Given the description of an element on the screen output the (x, y) to click on. 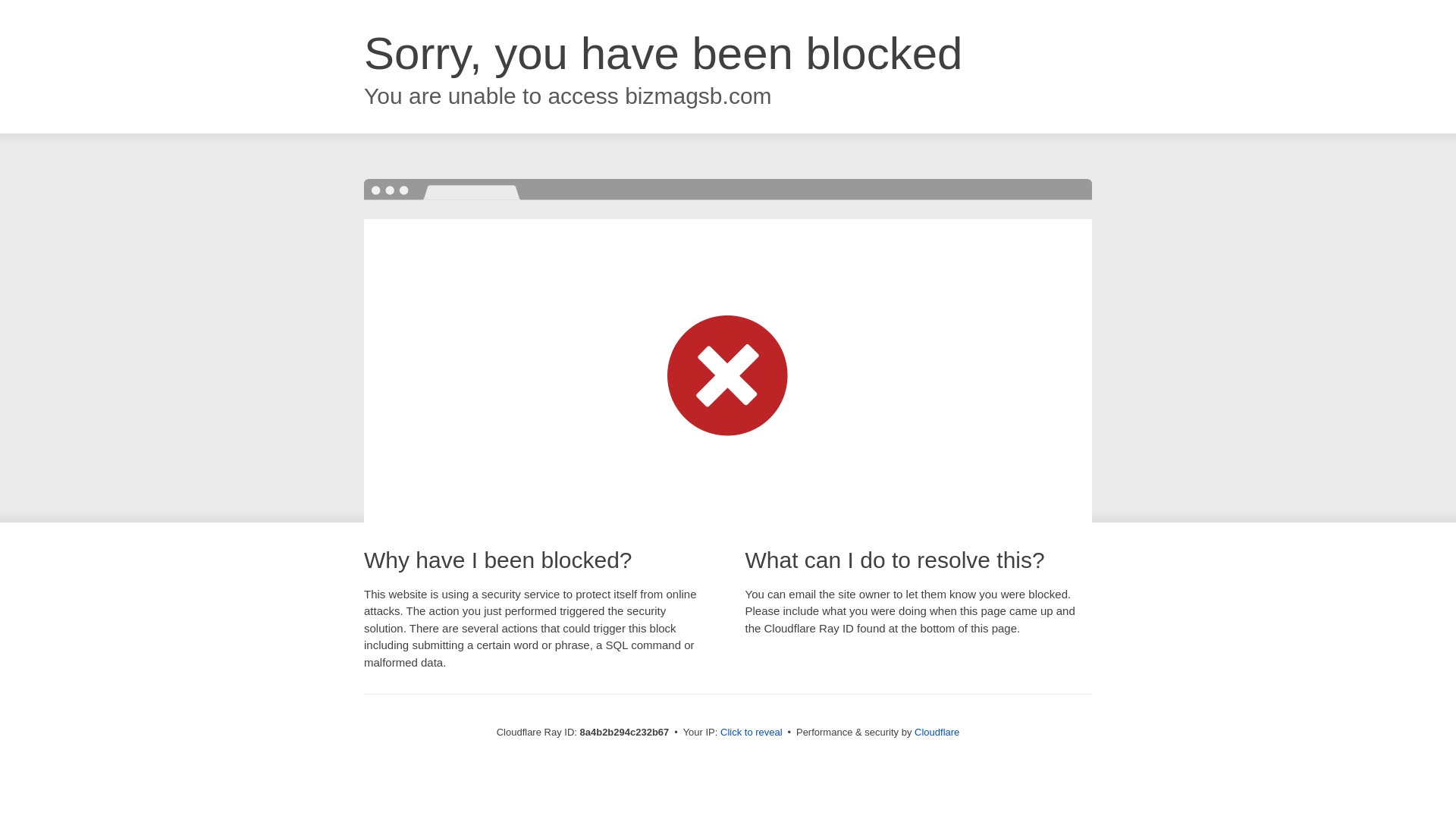
Cloudflare (936, 731)
Click to reveal (751, 732)
